Given the description of an element on the screen output the (x, y) to click on. 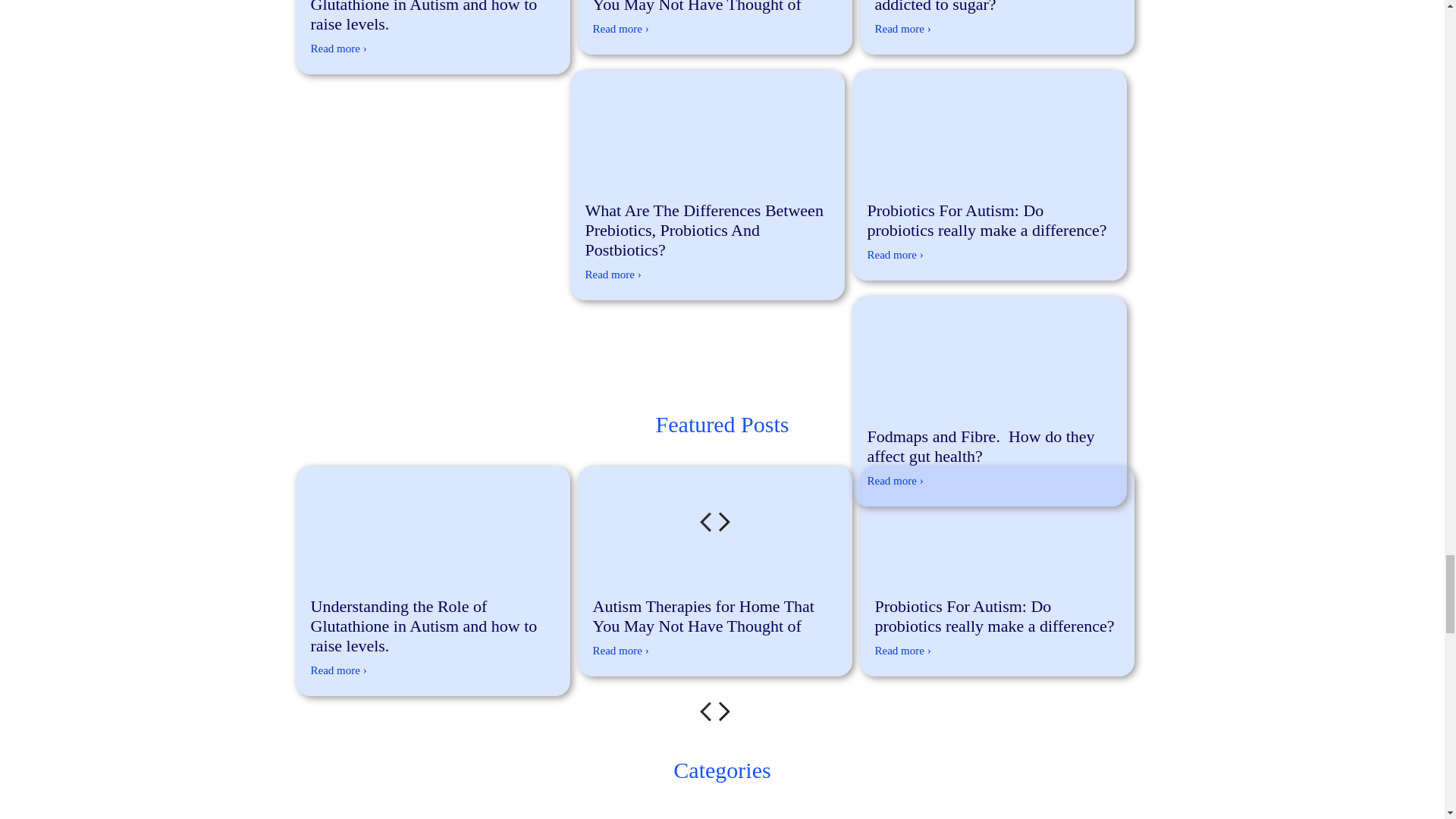
Sugar and Autism: Why are my kids addicted to sugar? (996, 9)
Autism Therapies for Home That You May Not Have Thought of (714, 9)
